Given the description of an element on the screen output the (x, y) to click on. 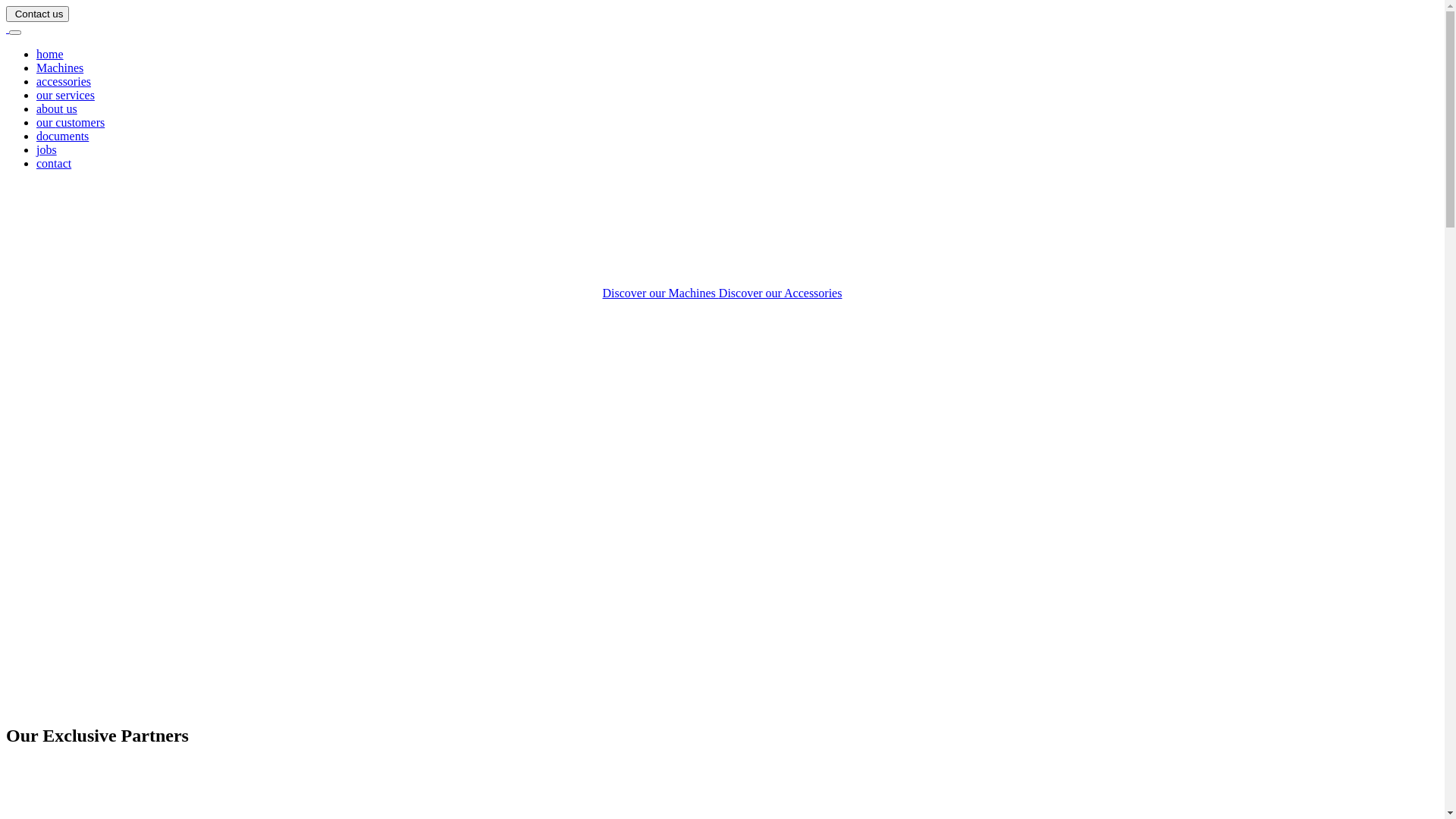
our customers Element type: text (70, 122)
Machines Element type: text (59, 67)
about us Element type: text (56, 108)
contact Element type: text (53, 162)
home Element type: text (49, 53)
 Contact us Element type: text (37, 12)
our services Element type: text (65, 94)
Discover our Machines Element type: text (660, 292)
documents Element type: text (62, 135)
 Contact us Element type: text (37, 13)
Discover our Accessories Element type: text (780, 292)
jobs Element type: text (46, 149)
accessories Element type: text (63, 81)
